Given the description of an element on the screen output the (x, y) to click on. 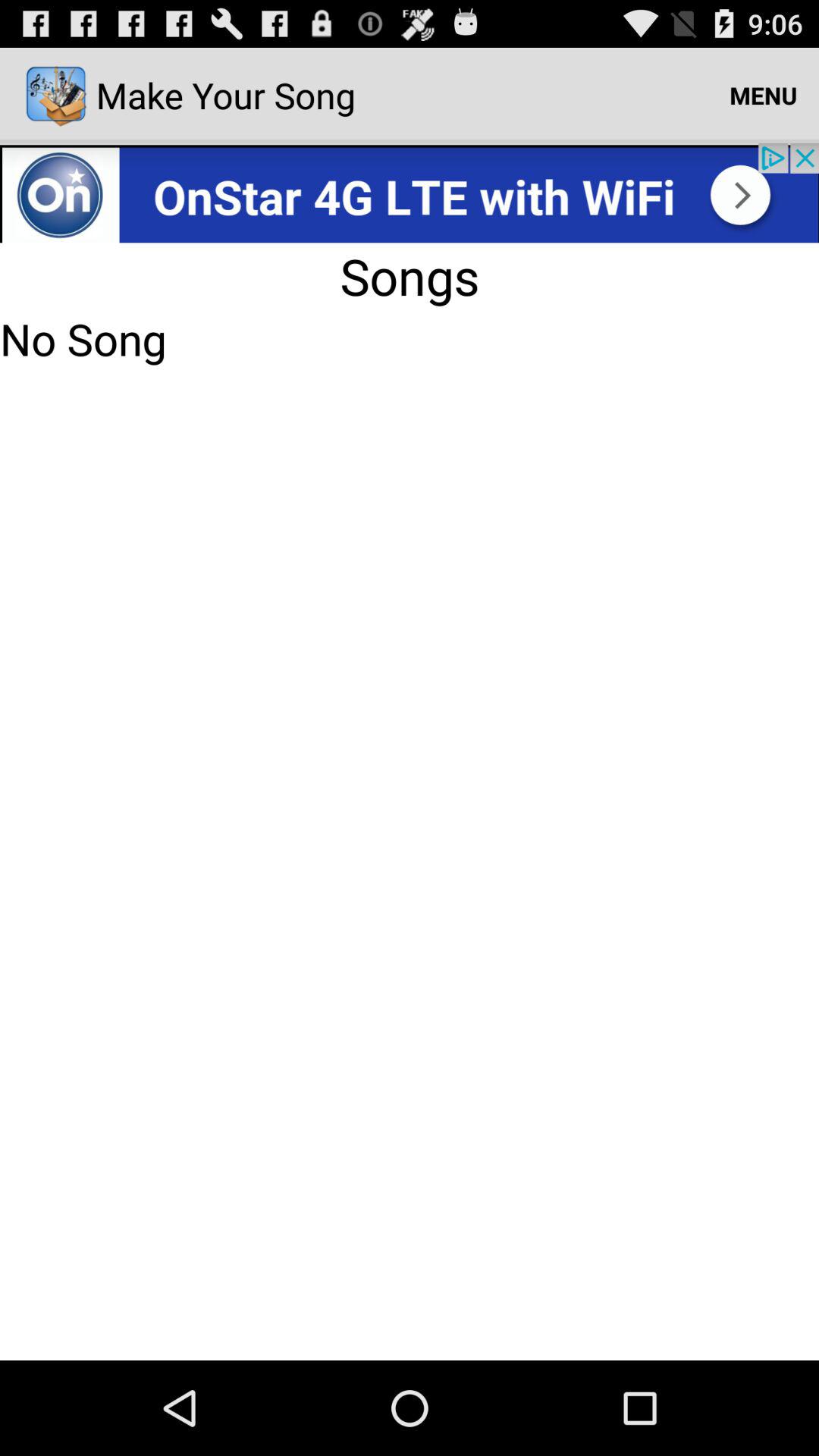
advertising bar (409, 192)
